Given the description of an element on the screen output the (x, y) to click on. 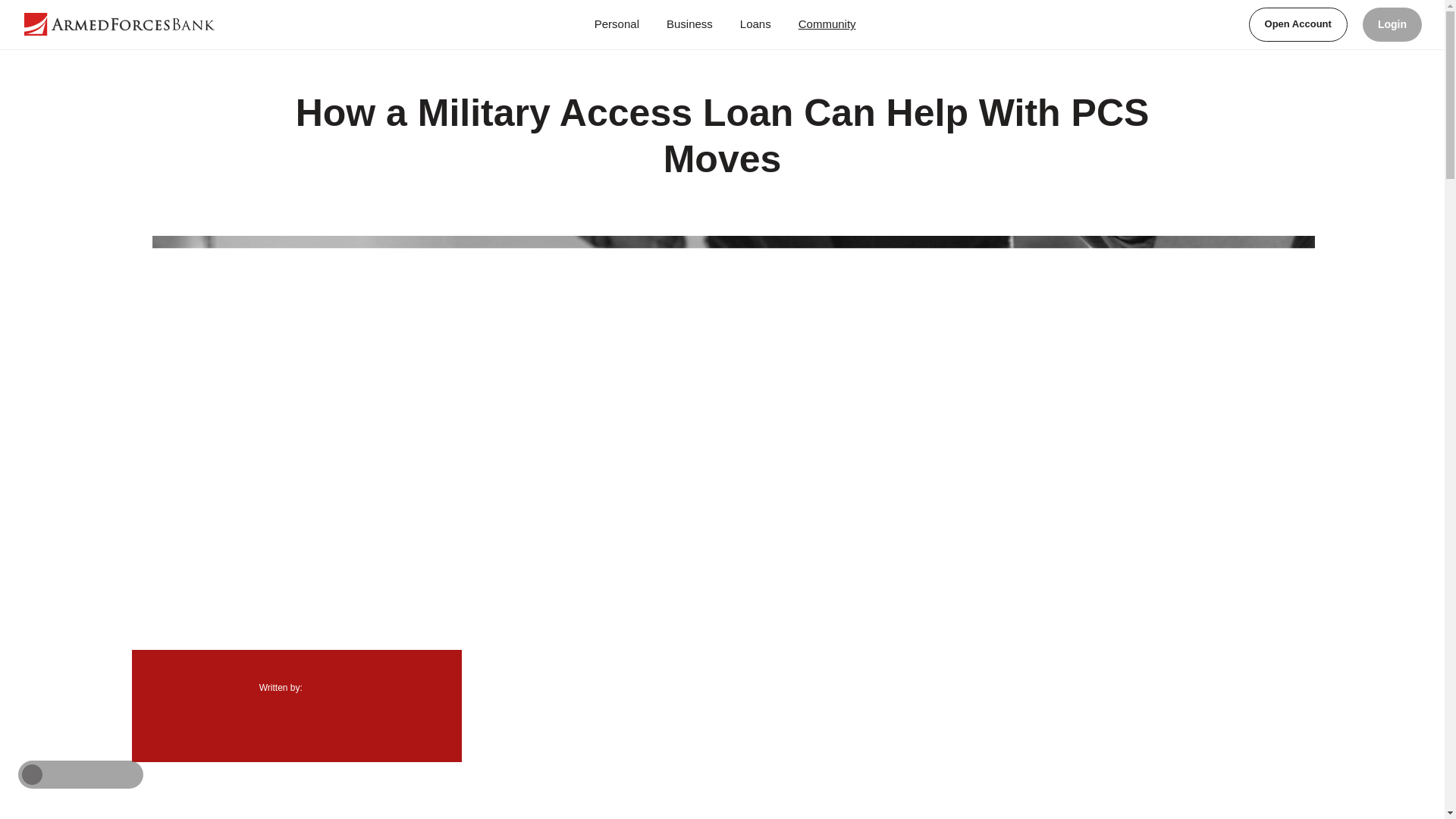
Toggle Online Banking Login (1392, 24)
Armed Forces Bank, Kansas City, MO (132, 24)
Toggle Site Search (1220, 24)
